Given the description of an element on the screen output the (x, y) to click on. 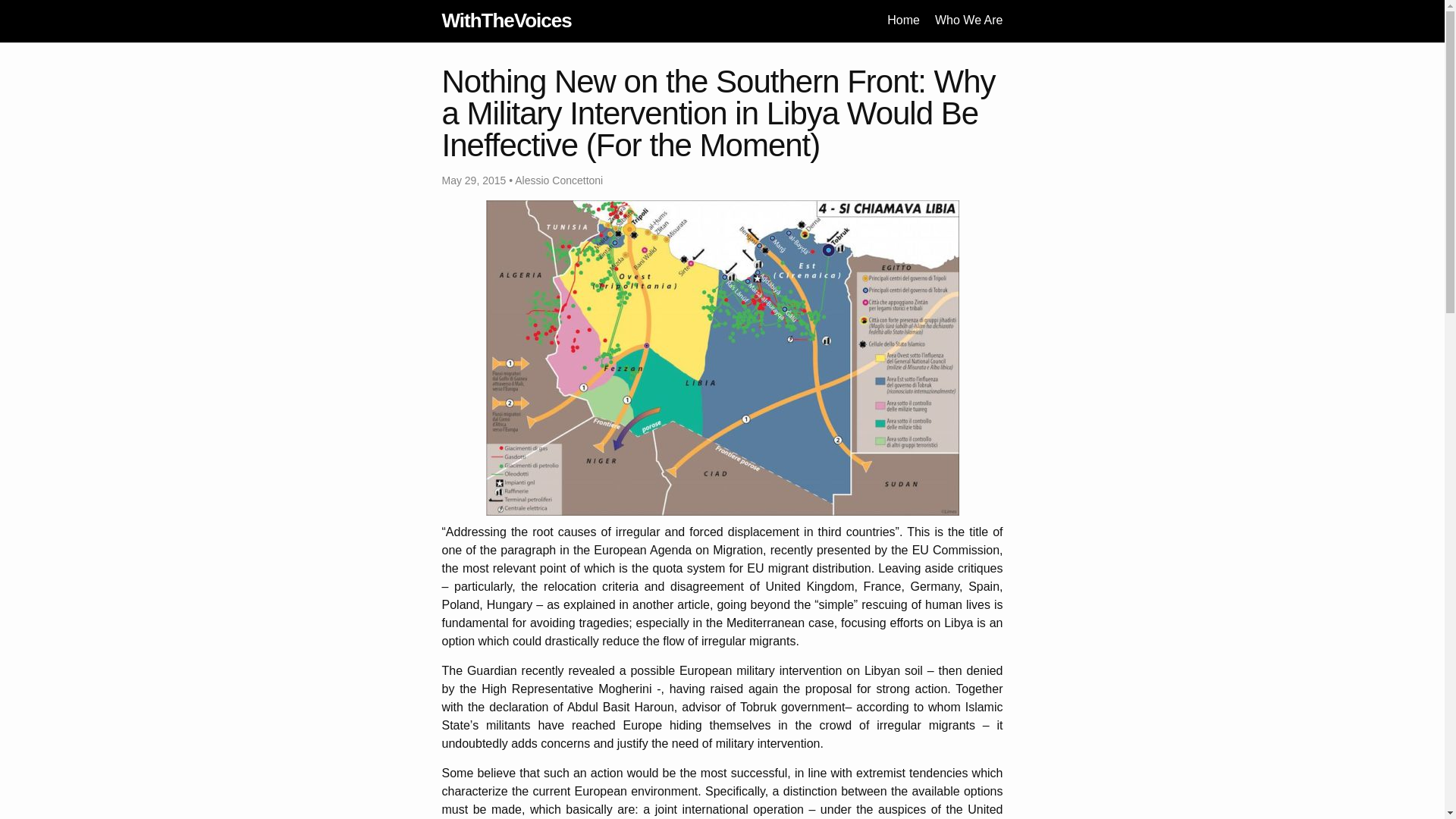
Who We Are (968, 19)
WithTheVoices (505, 20)
Home (903, 19)
